Given the description of an element on the screen output the (x, y) to click on. 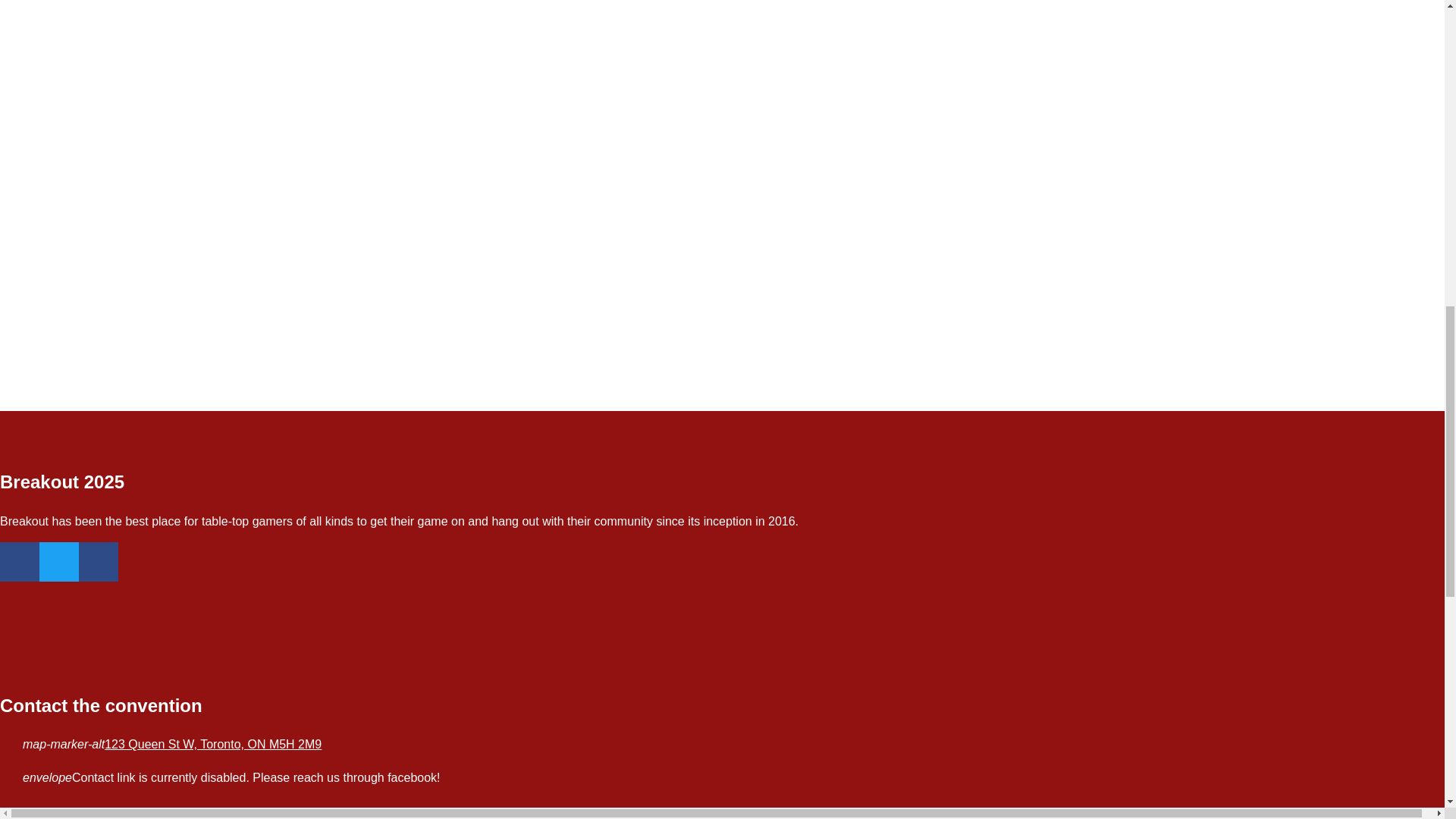
facebook (19, 561)
twitter (58, 561)
instagram (97, 561)
